Given the description of an element on the screen output the (x, y) to click on. 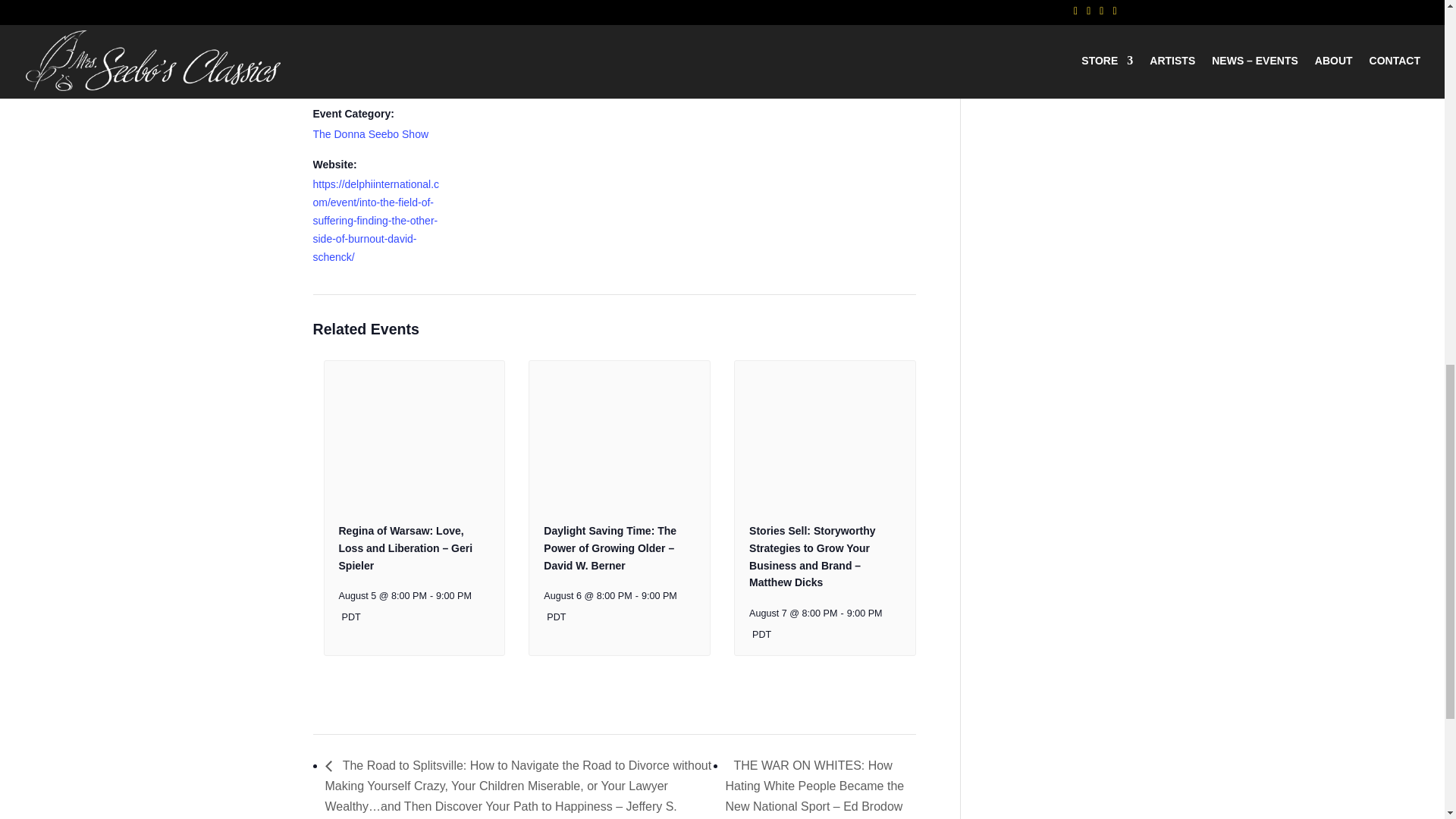
2023-09-14 (361, 33)
The Donna Seebo Show, Lakewood, WA, 98446, United States (517, 30)
2023-09-14 (376, 84)
The Donna Seebo Show (370, 133)
